Given the description of an element on the screen output the (x, y) to click on. 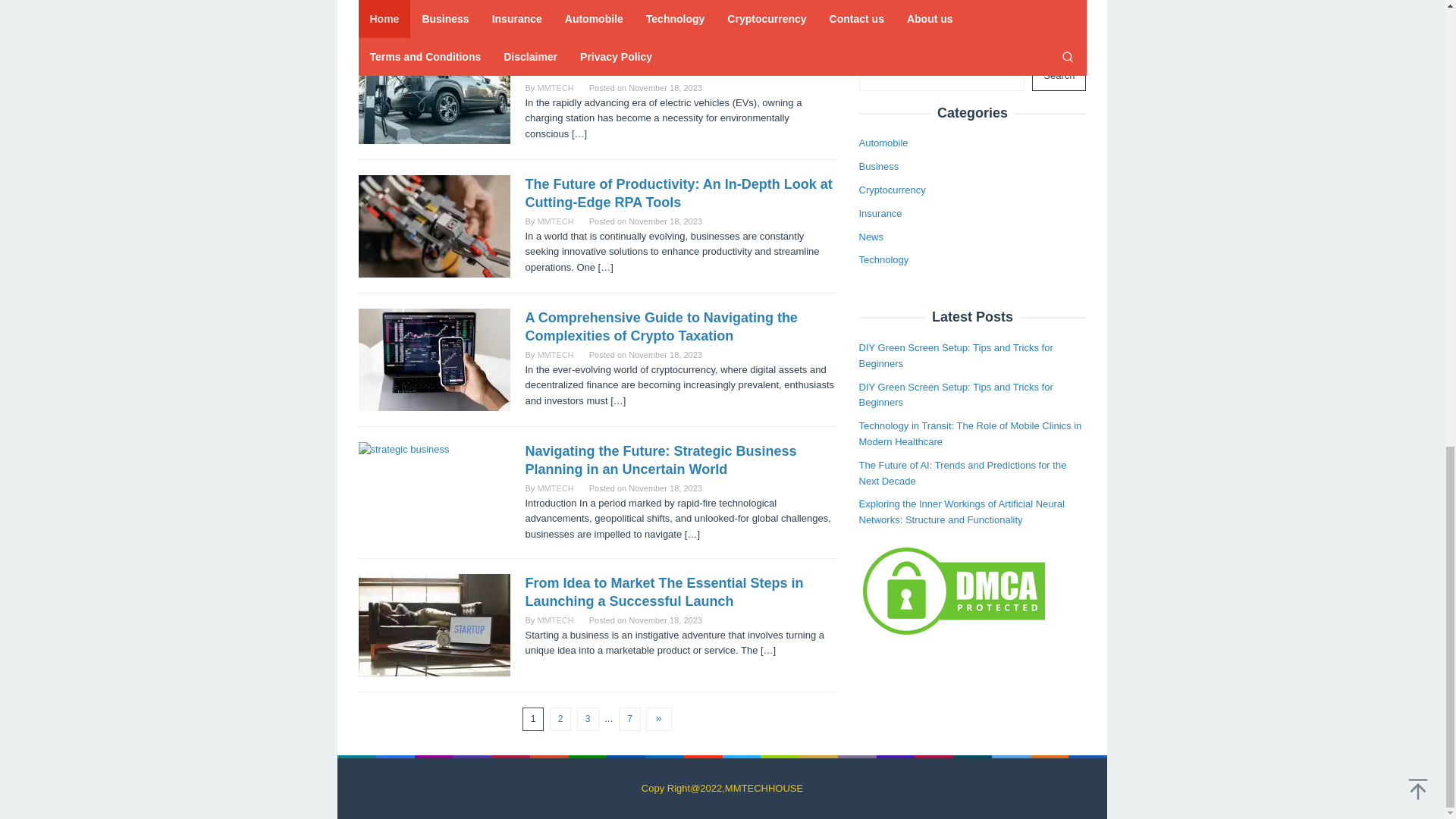
MMTECH (555, 87)
Essential Charging Station Accessories for EV Owners (674, 59)
